Given the description of an element on the screen output the (x, y) to click on. 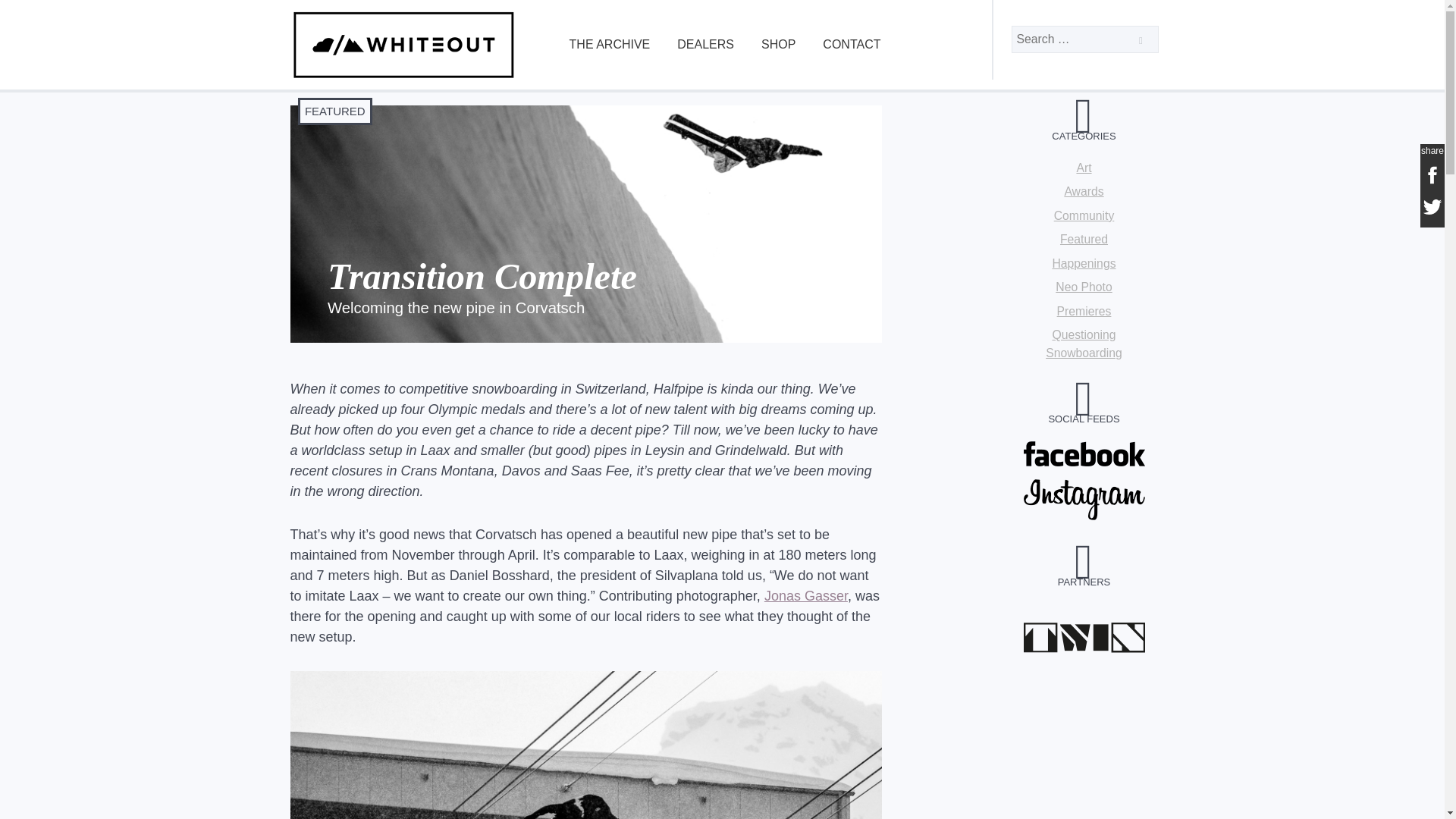
SHOP (777, 45)
Whiteout (402, 77)
Featured (1083, 238)
CONTACT (851, 45)
Questioning Snowboarding (1083, 343)
Community (1084, 215)
DEALERS (705, 45)
Awards (1083, 191)
Art (1082, 167)
Jonas Gasser (805, 595)
